Given the description of an element on the screen output the (x, y) to click on. 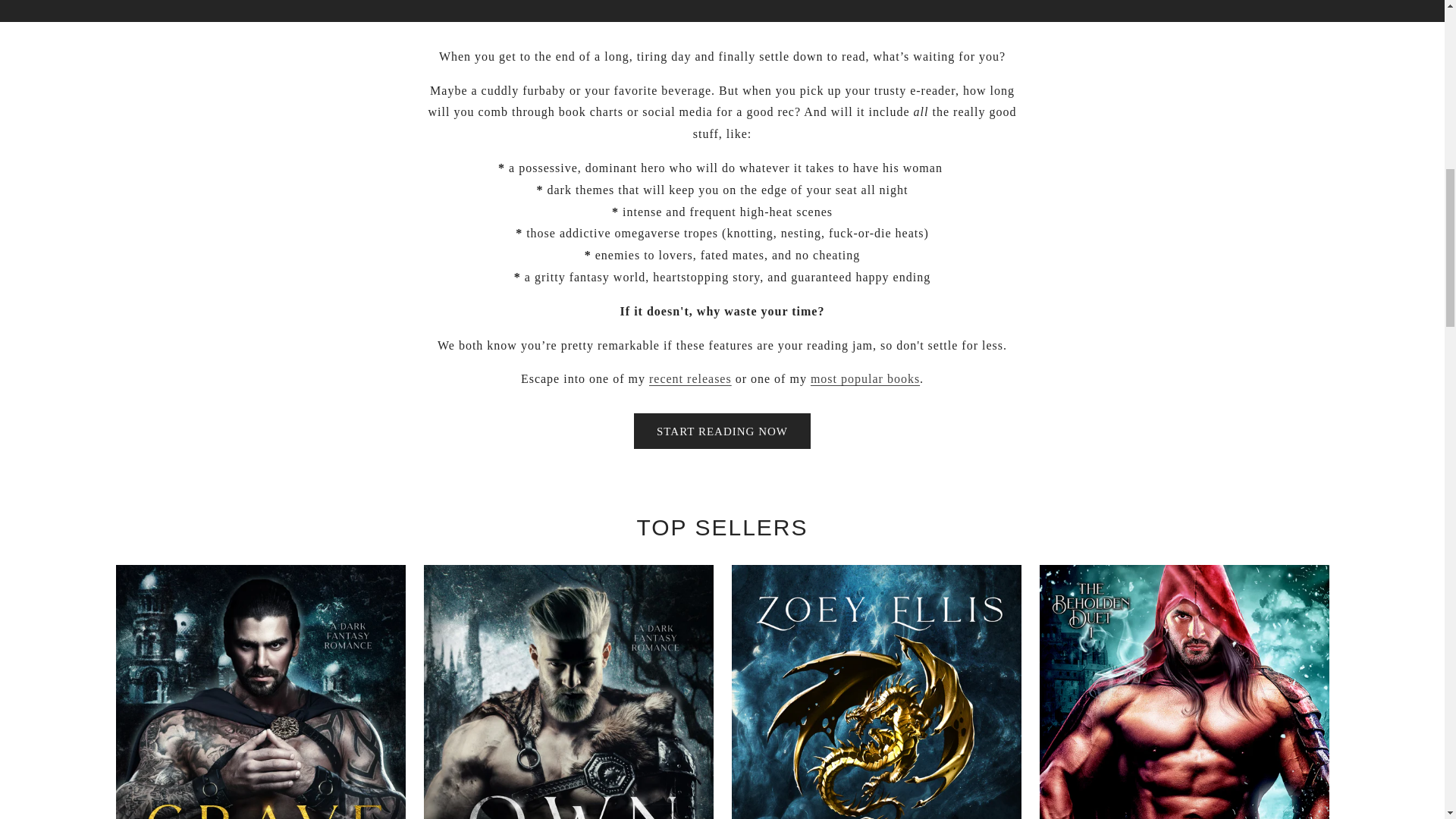
recent releases (690, 378)
TOP SELLERS (865, 378)
Recent Releases (690, 378)
START READING NOW (721, 430)
most popular books (865, 378)
